Given the description of an element on the screen output the (x, y) to click on. 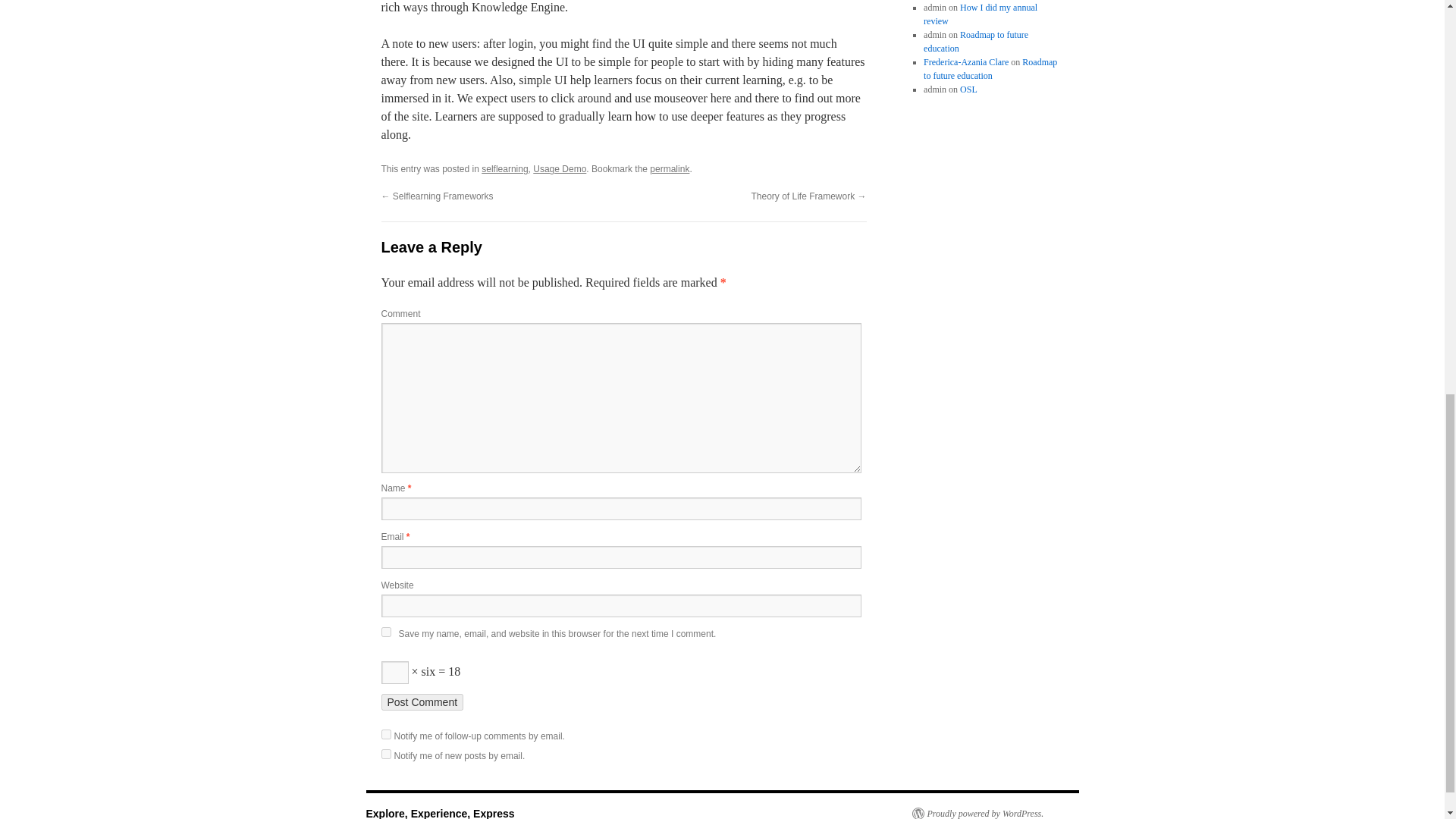
selflearning (504, 168)
Usage Demo (559, 168)
Permalink to Light bulb moments (668, 168)
Post Comment (421, 701)
permalink (668, 168)
Post Comment (421, 701)
subscribe (385, 734)
yes (385, 632)
subscribe (385, 754)
